Given the description of an element on the screen output the (x, y) to click on. 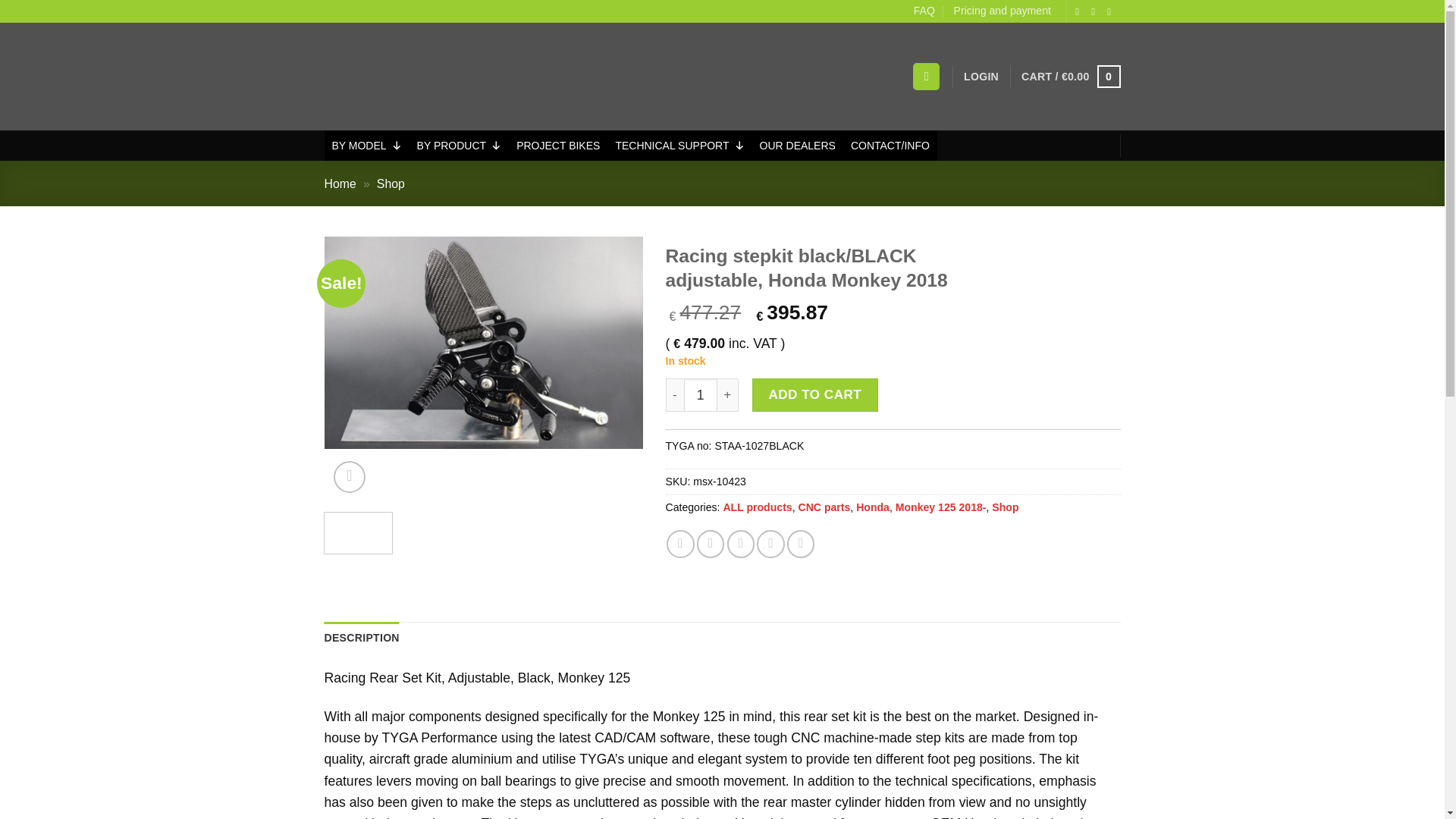
Login (980, 76)
Cart (1070, 76)
Share on Facebook (680, 543)
Zoom (349, 477)
1 (700, 394)
LOGIN (980, 76)
Pricing and payment (1002, 10)
BY MODEL (366, 145)
FAQ (924, 10)
